Given the description of an element on the screen output the (x, y) to click on. 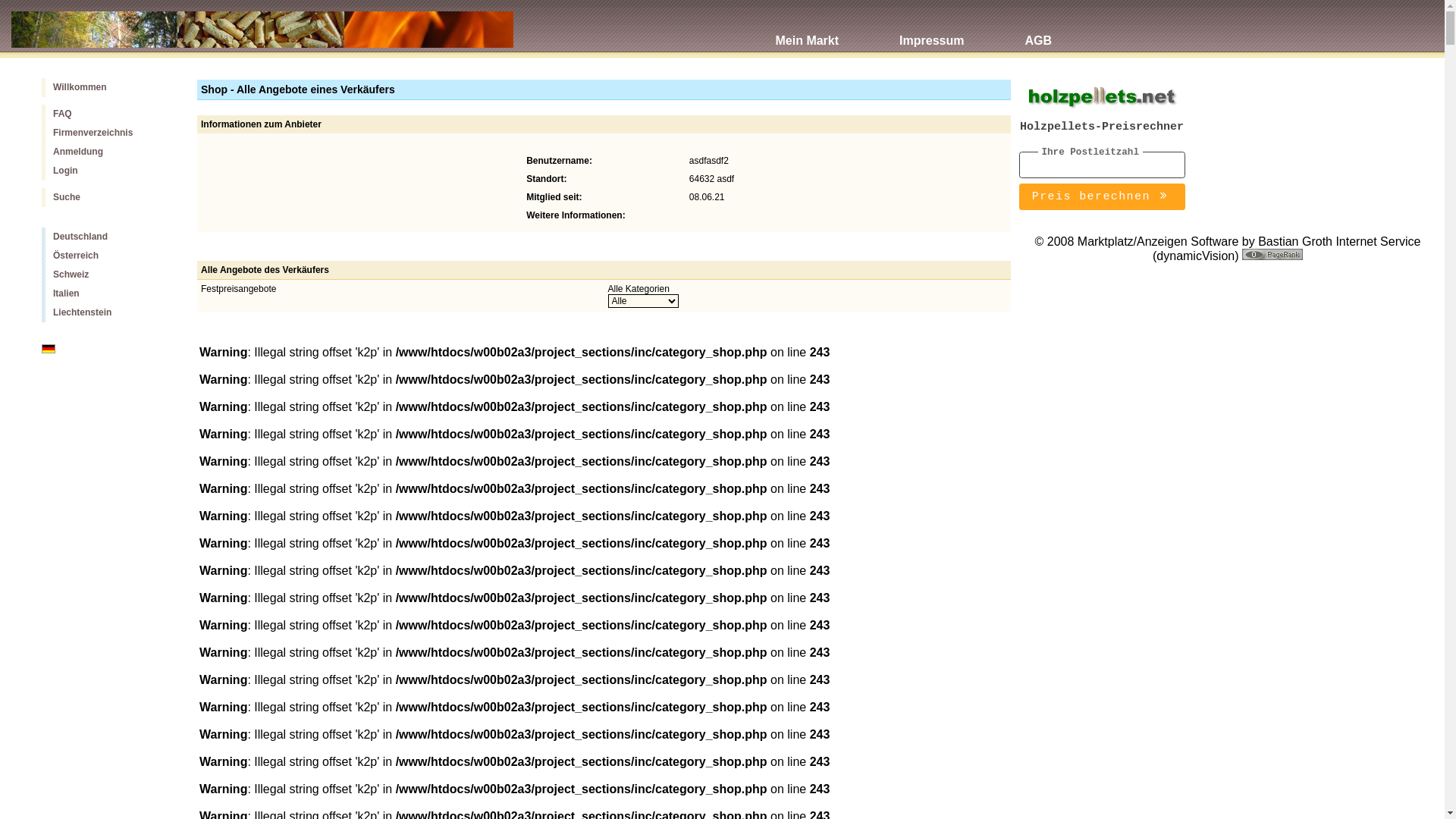
Italien Element type: text (107, 293)
Liechtenstein Element type: text (107, 312)
FAQ Element type: text (107, 113)
Impressum Element type: text (931, 32)
Login Element type: text (107, 170)
Willkommen Element type: text (107, 87)
Deutschland Element type: text (107, 236)
Festpreisangebote Element type: text (238, 288)
Mein Markt Element type: text (806, 32)
Schweiz Element type: text (107, 274)
Alle Kategorien Element type: text (638, 288)
Firmenverzeichnis Element type: text (107, 132)
Suche Element type: text (107, 197)
Anmeldung Element type: text (107, 151)
AGB Element type: text (1038, 32)
